Given the description of an element on the screen output the (x, y) to click on. 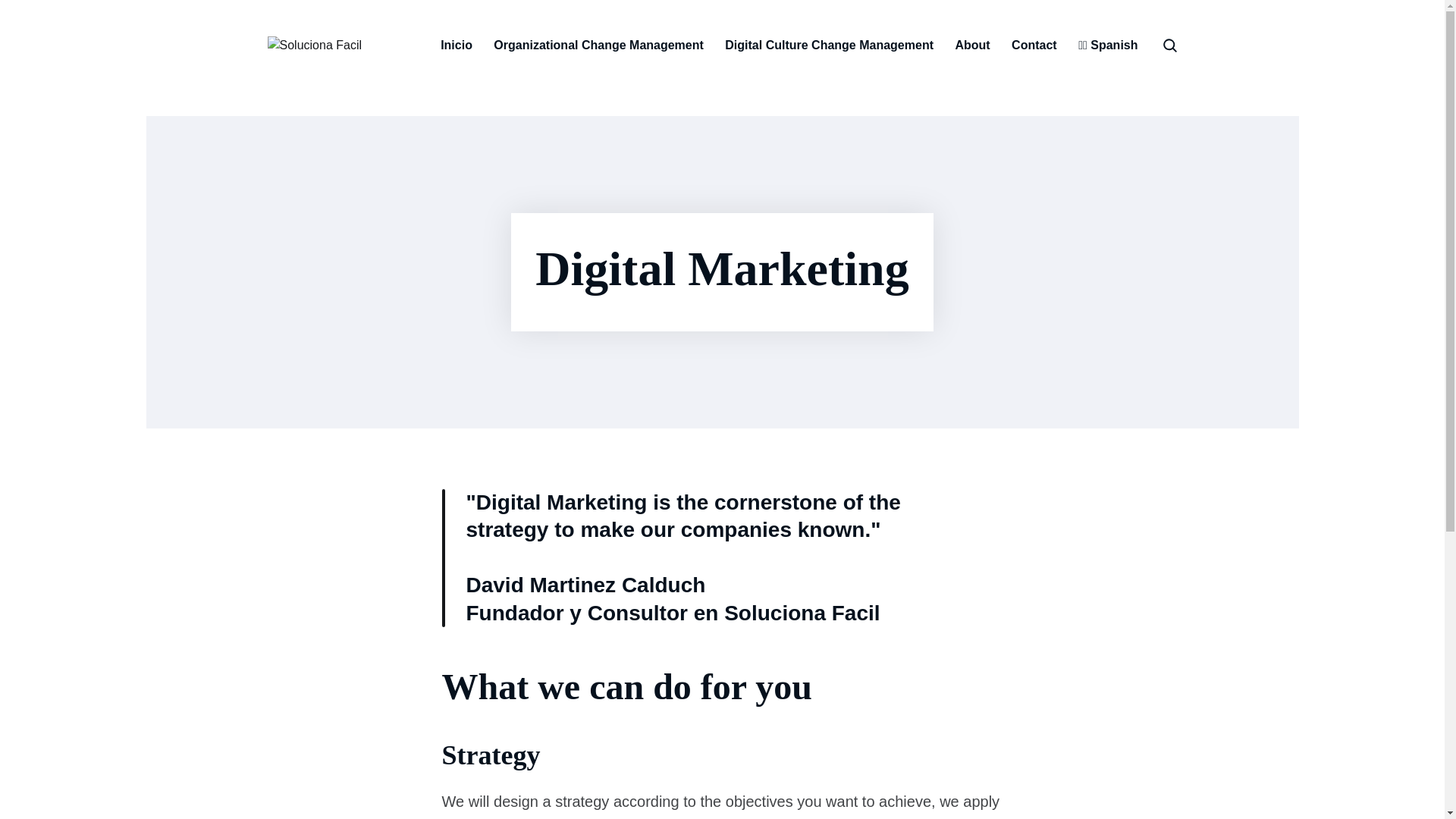
Inicio (456, 45)
Contact (1034, 45)
Organizational Change Management (598, 45)
Digital Culture Change Management (829, 45)
About (972, 45)
